Given the description of an element on the screen output the (x, y) to click on. 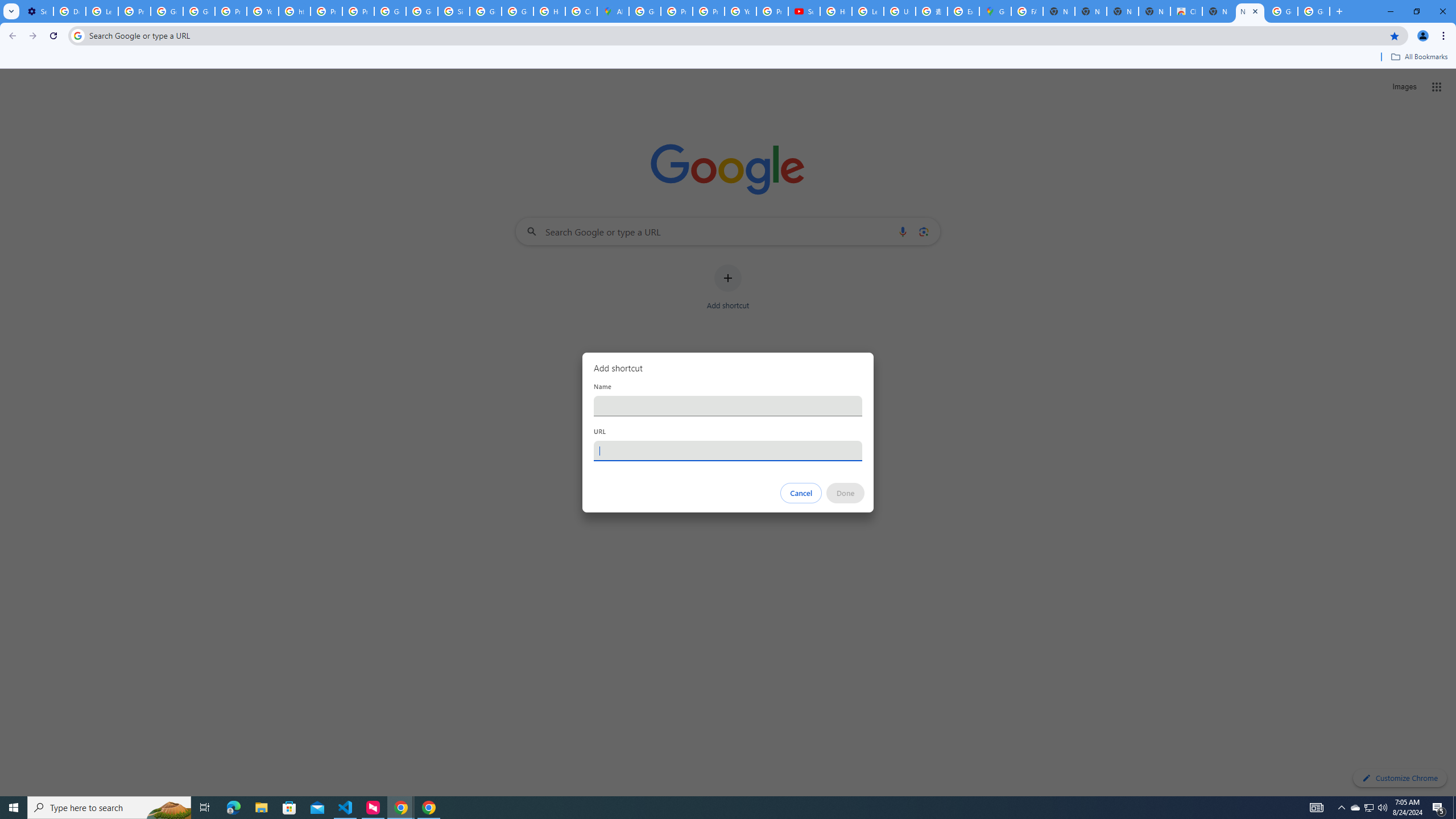
Privacy Help Center - Policies Help (326, 11)
Google Images (1281, 11)
Google Maps (995, 11)
